Given the description of an element on the screen output the (x, y) to click on. 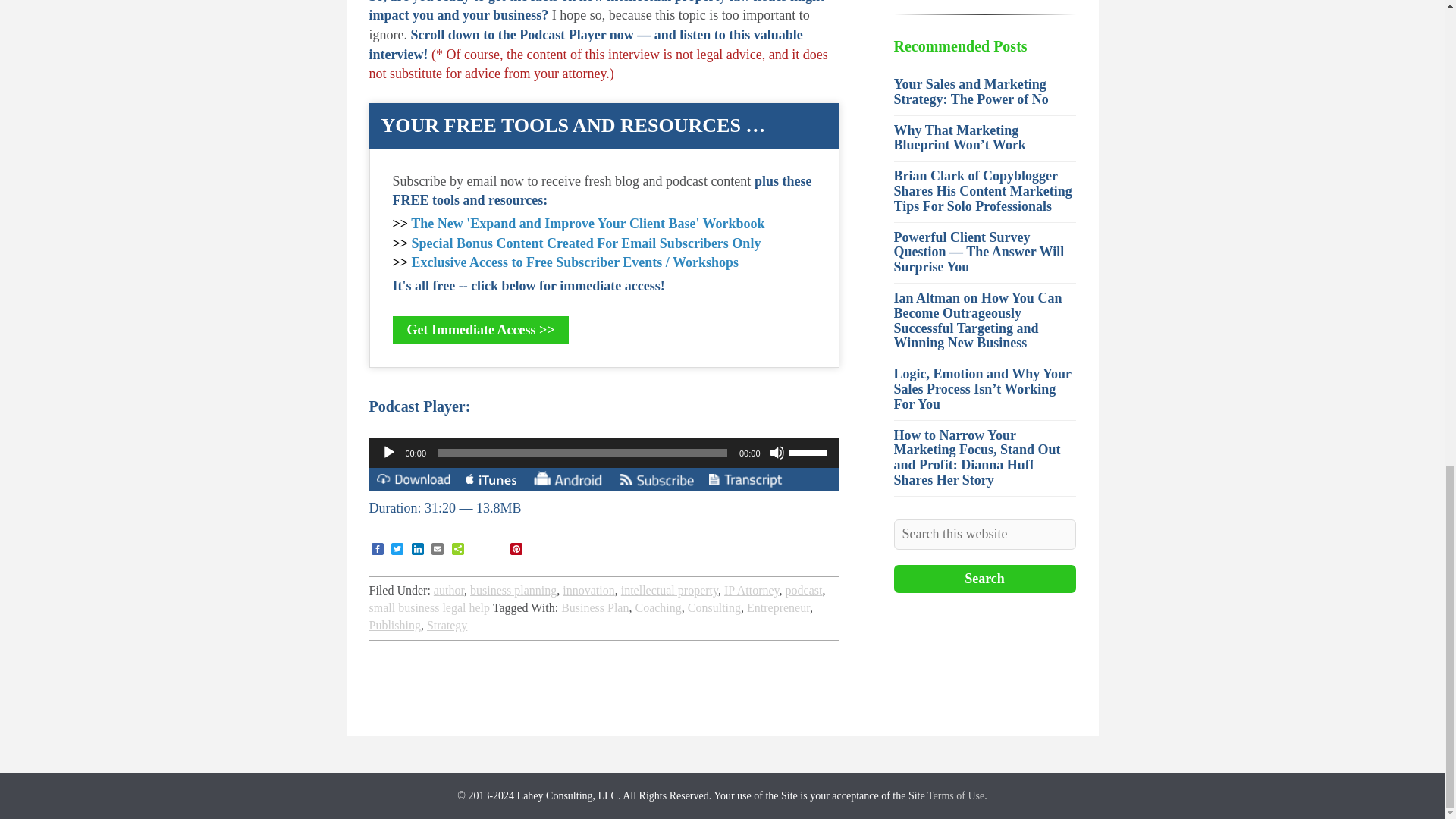
Subscribe (657, 481)
Mute (776, 452)
small business legal help (428, 607)
Entrepreneur (777, 607)
author (448, 590)
Transcript (744, 481)
Consulting (714, 607)
podcast (804, 590)
innovation (588, 590)
Search (984, 579)
